Given the description of an element on the screen output the (x, y) to click on. 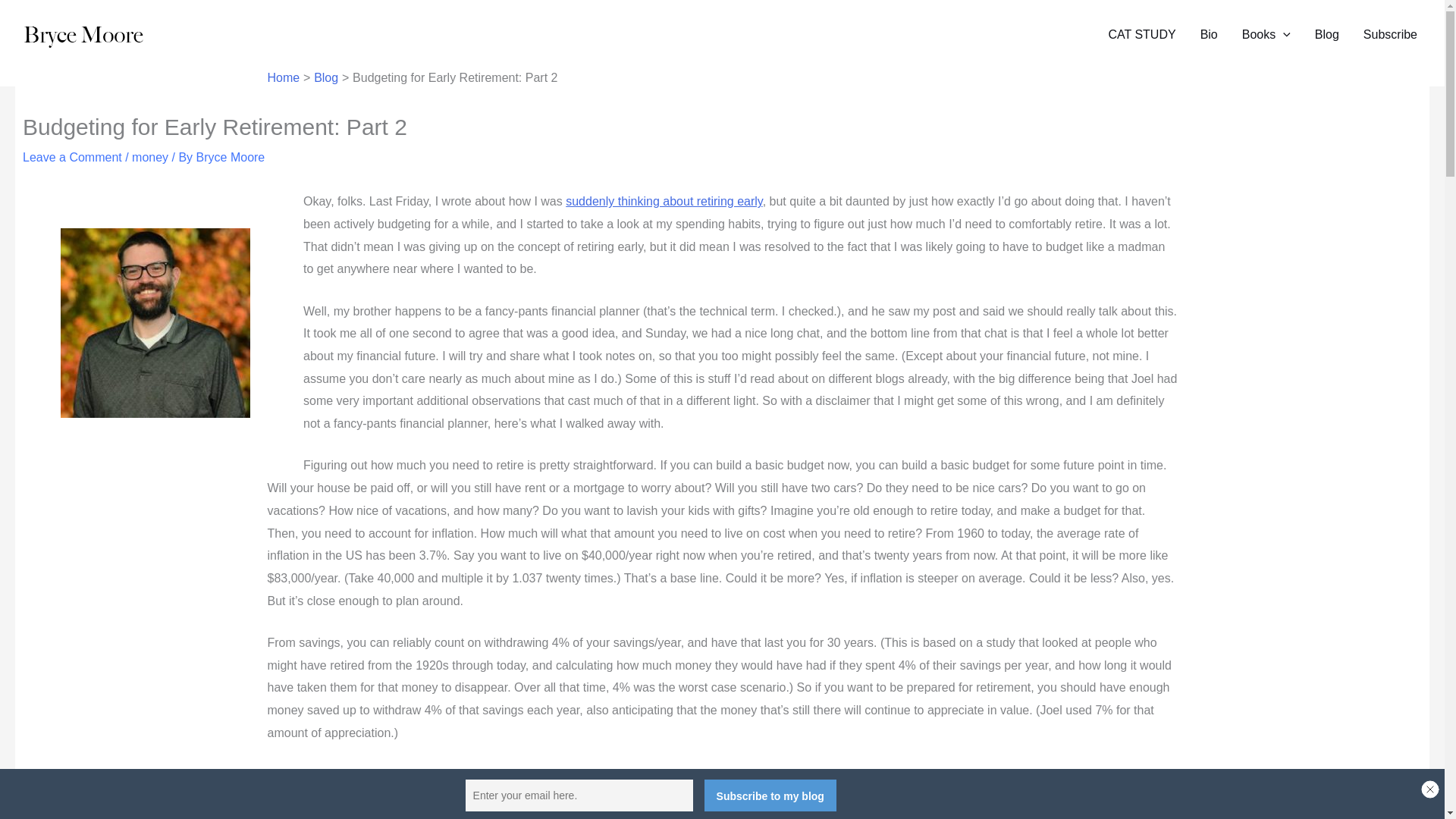
CAT STUDY (1142, 34)
Subscribe to my blog (769, 795)
Subscribe (1390, 34)
Leave a Comment (72, 156)
Books (1266, 34)
suddenly thinking about retiring early (663, 201)
Bryce Moore (230, 156)
Home (282, 77)
Blog (325, 77)
View all posts by Bryce Moore (230, 156)
